Given the description of an element on the screen output the (x, y) to click on. 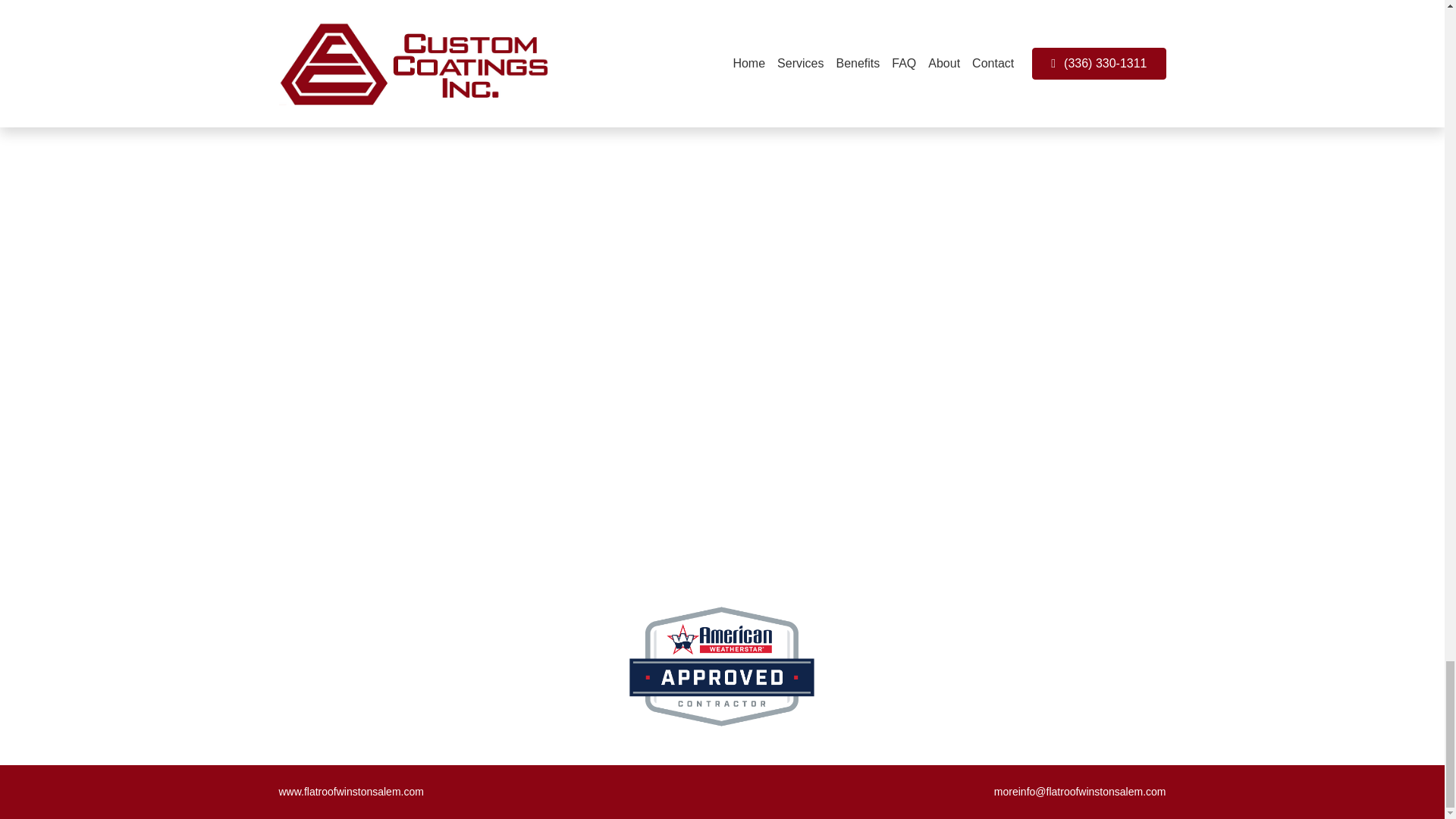
www.flatroofwinstonsalem.com (351, 791)
Email us! (798, 74)
Email us! (804, 73)
